Given the description of an element on the screen output the (x, y) to click on. 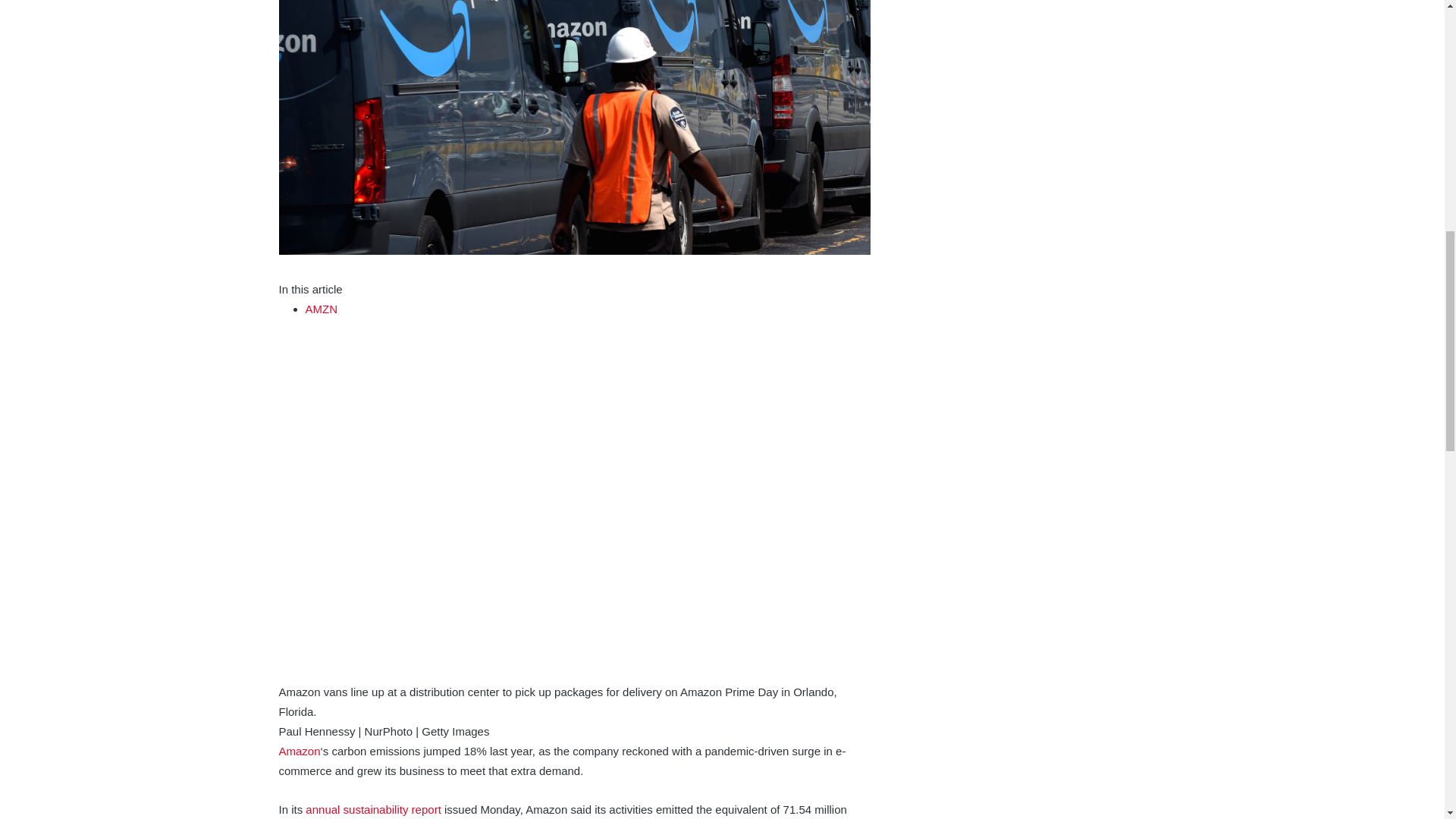
AMZN (320, 308)
Amazon (299, 750)
annual sustainability report (373, 809)
